Given the description of an element on the screen output the (x, y) to click on. 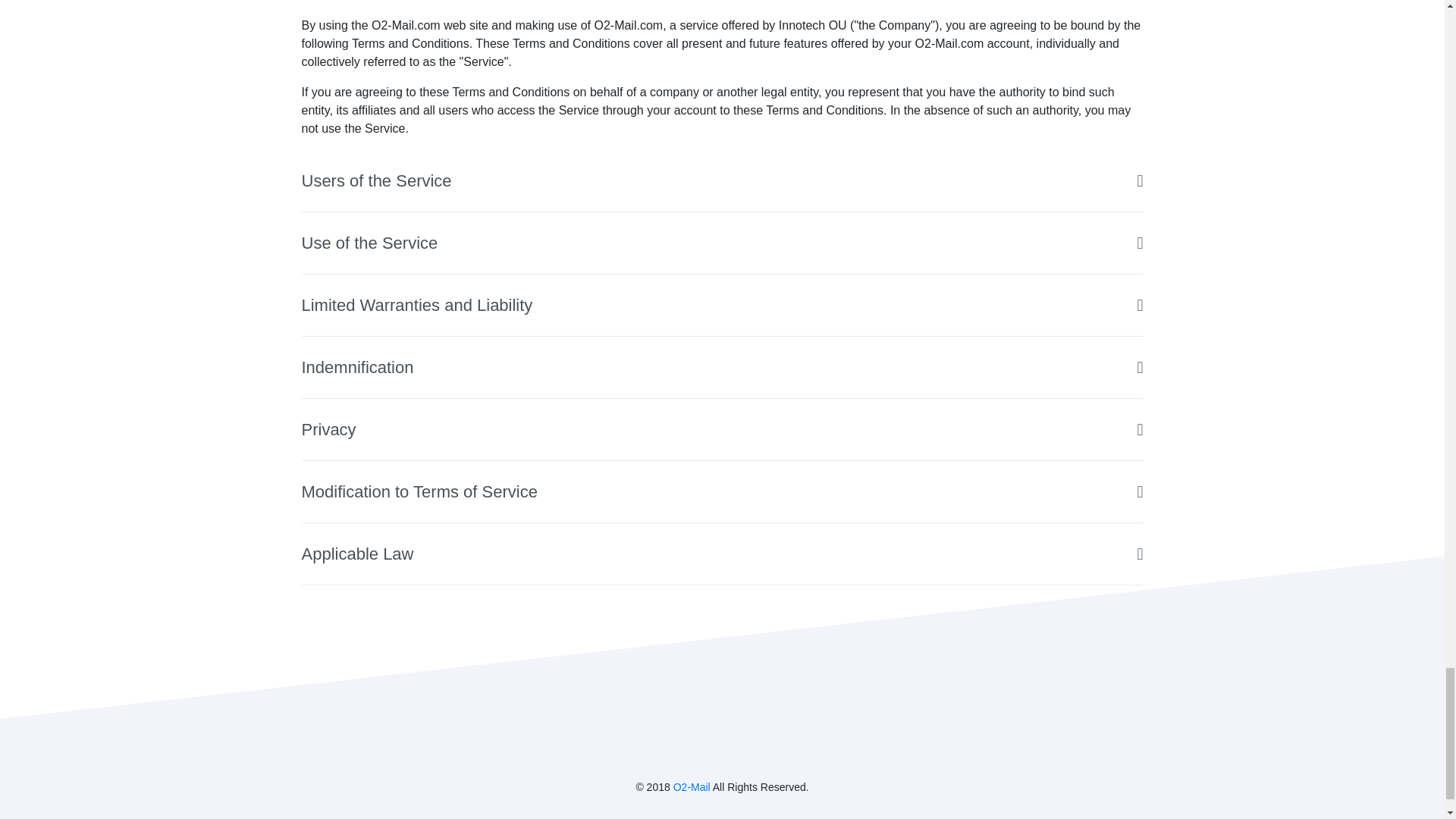
Limited Warranties and Liability (721, 305)
Users of the Service (721, 180)
Use of the Service (721, 243)
Indemnification (721, 367)
Applicable Law (721, 554)
Modification to Terms of Service (721, 492)
O2-Mail (691, 787)
Privacy (721, 429)
